Given the description of an element on the screen output the (x, y) to click on. 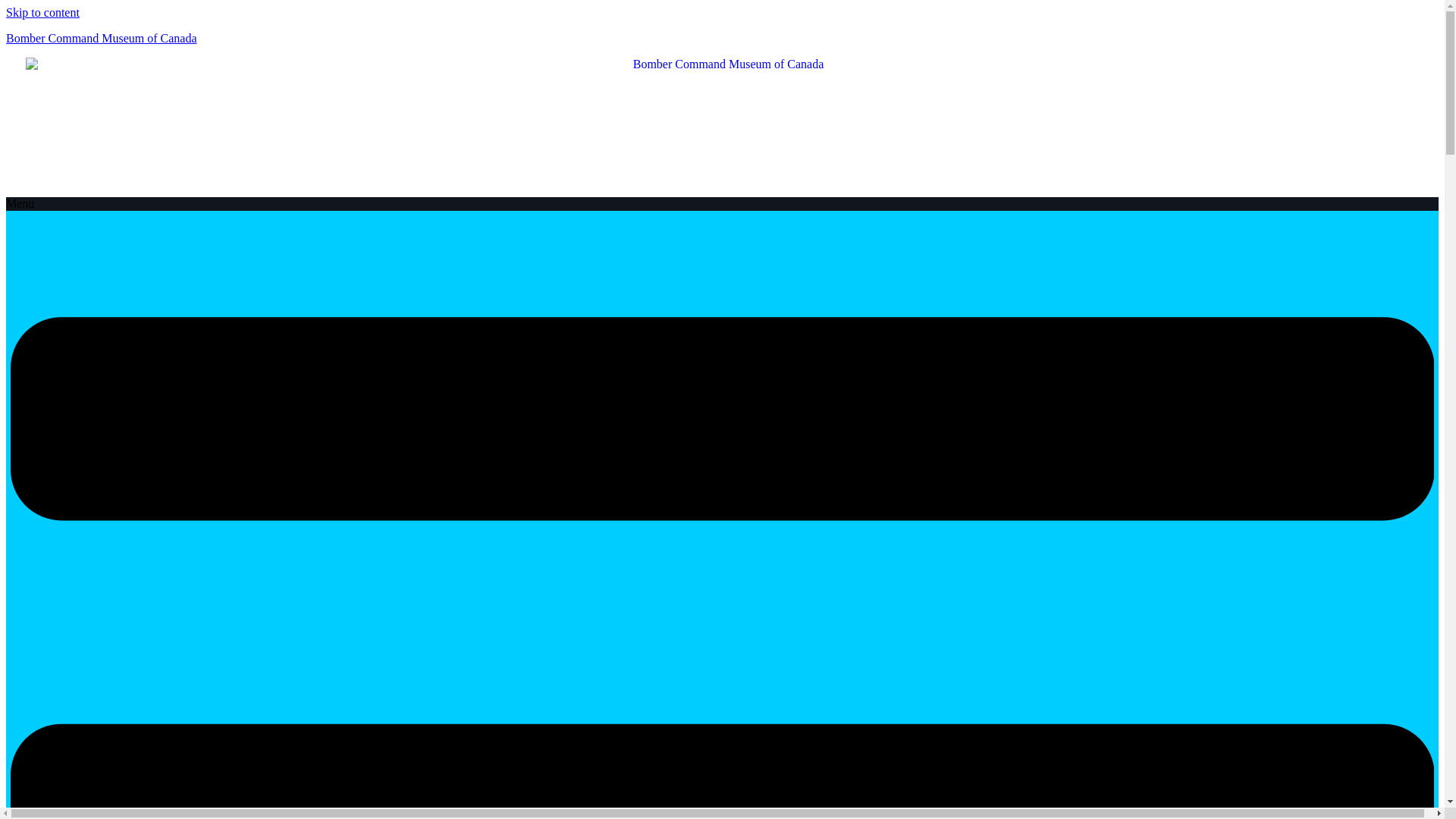
Bomber Command Museum of Canada (100, 38)
Skip to content (42, 11)
Bomber Command Museum of Canada (100, 38)
